Given the description of an element on the screen output the (x, y) to click on. 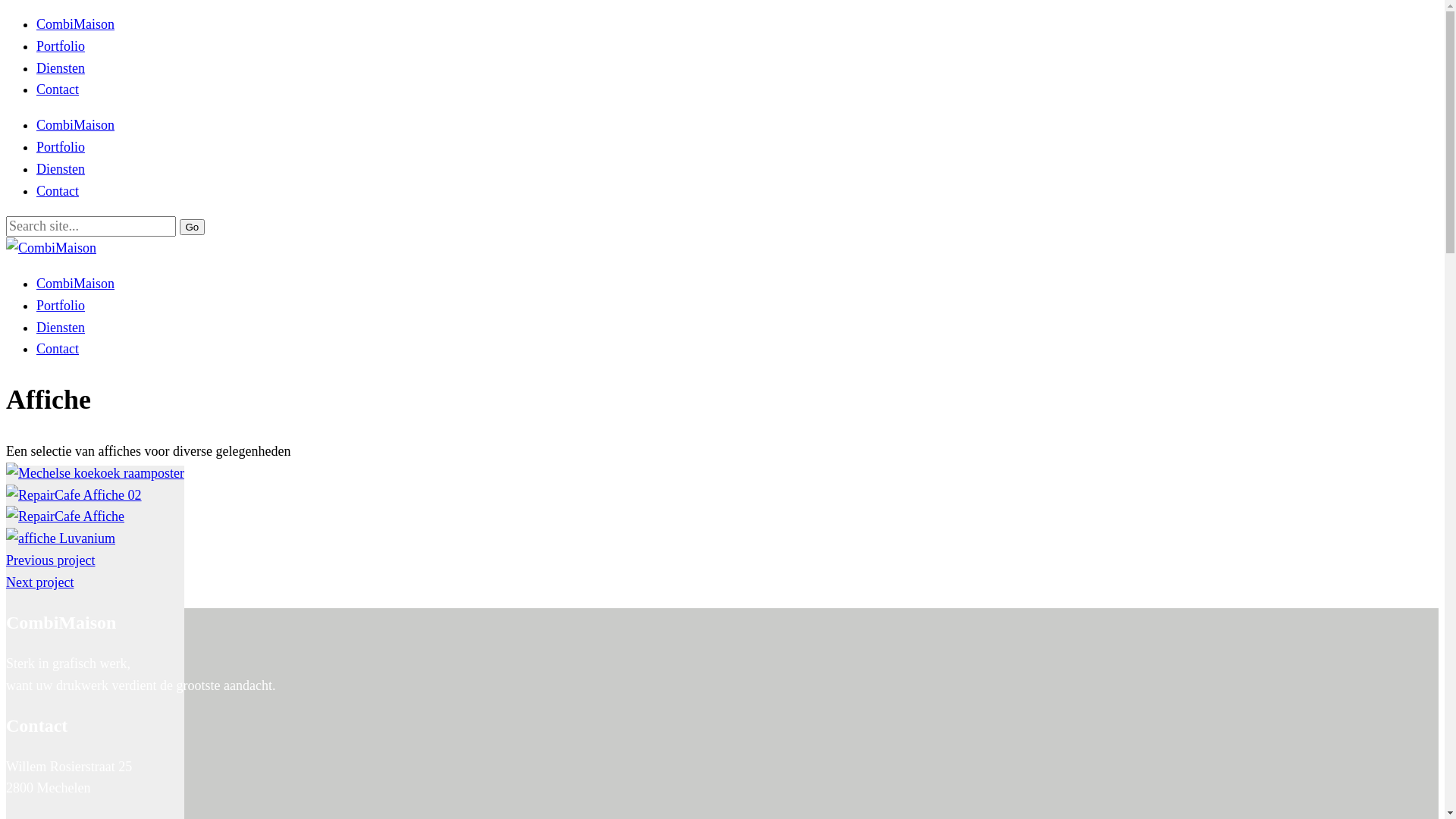
CombiMaison Element type: text (75, 23)
Next project Element type: text (39, 581)
Search for: Element type: hover (90, 226)
Portfolio Element type: text (60, 305)
Previous project Element type: text (50, 559)
Go Element type: text (191, 227)
Diensten Element type: text (60, 168)
Diensten Element type: text (60, 67)
Portfolio Element type: text (60, 45)
Contact Element type: text (57, 89)
Contact Element type: text (57, 348)
Portfolio Element type: text (60, 146)
Contact Element type: text (57, 190)
CombiMaison Element type: text (75, 124)
Diensten Element type: text (60, 327)
CombiMaison Element type: text (75, 283)
